Given the description of an element on the screen output the (x, y) to click on. 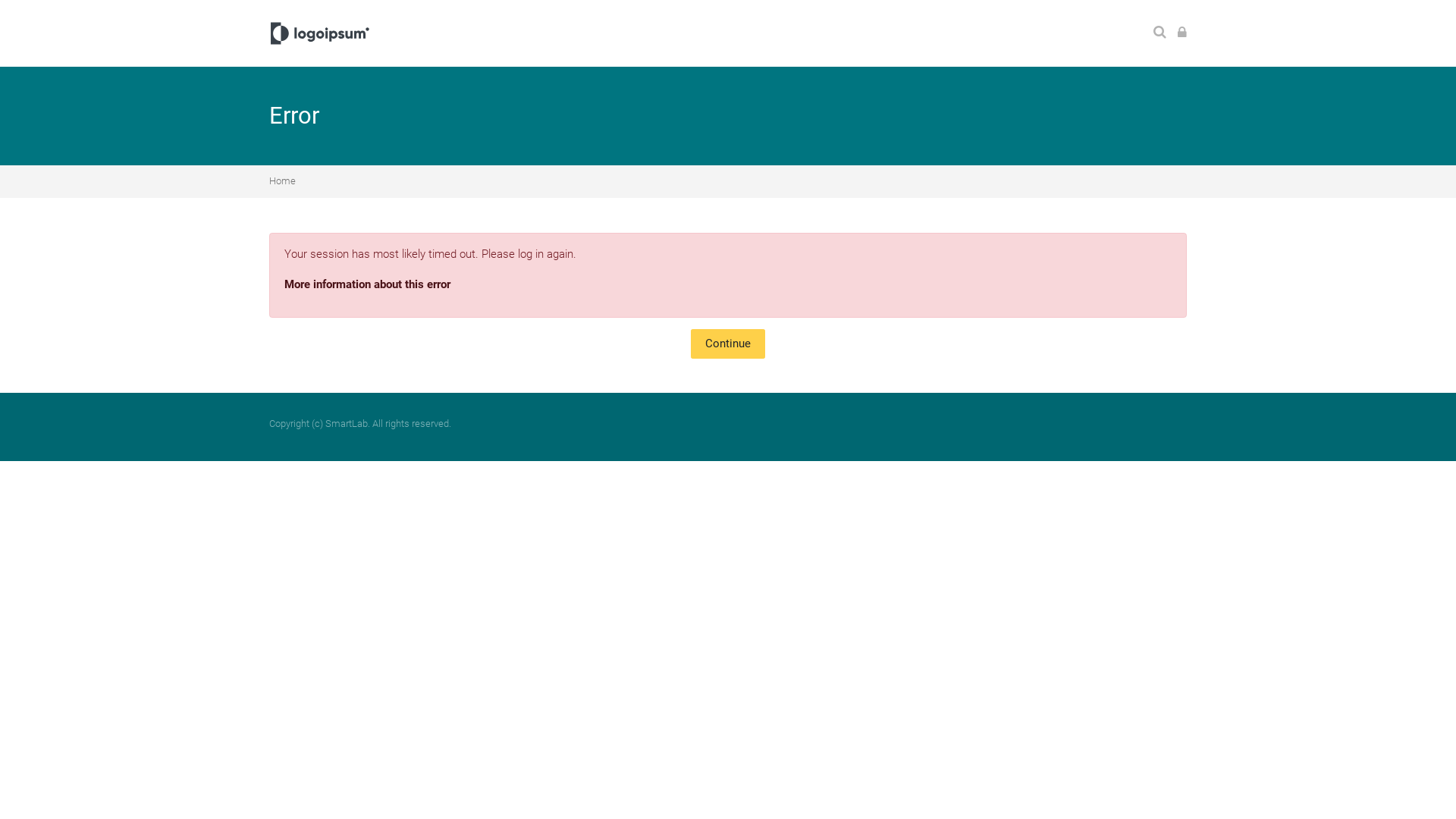
Log in Element type: hover (1181, 32)
Search Element type: hover (1159, 32)
Home Element type: text (282, 180)
Continue Element type: text (727, 343)
More information about this error Element type: text (367, 284)
New Learning Element type: hover (319, 32)
